Given the description of an element on the screen output the (x, y) to click on. 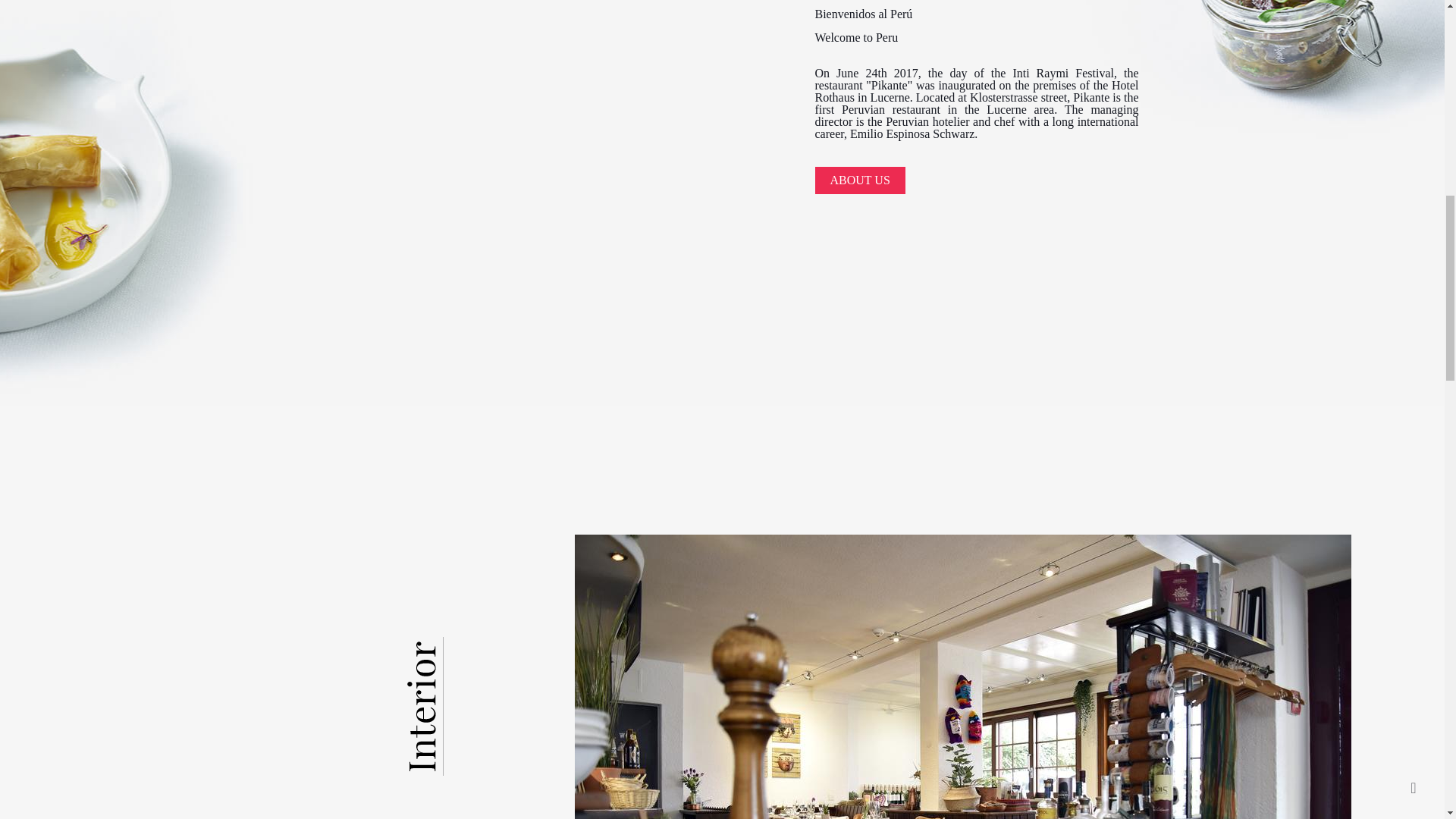
ABOUT US (858, 180)
